Given the description of an element on the screen output the (x, y) to click on. 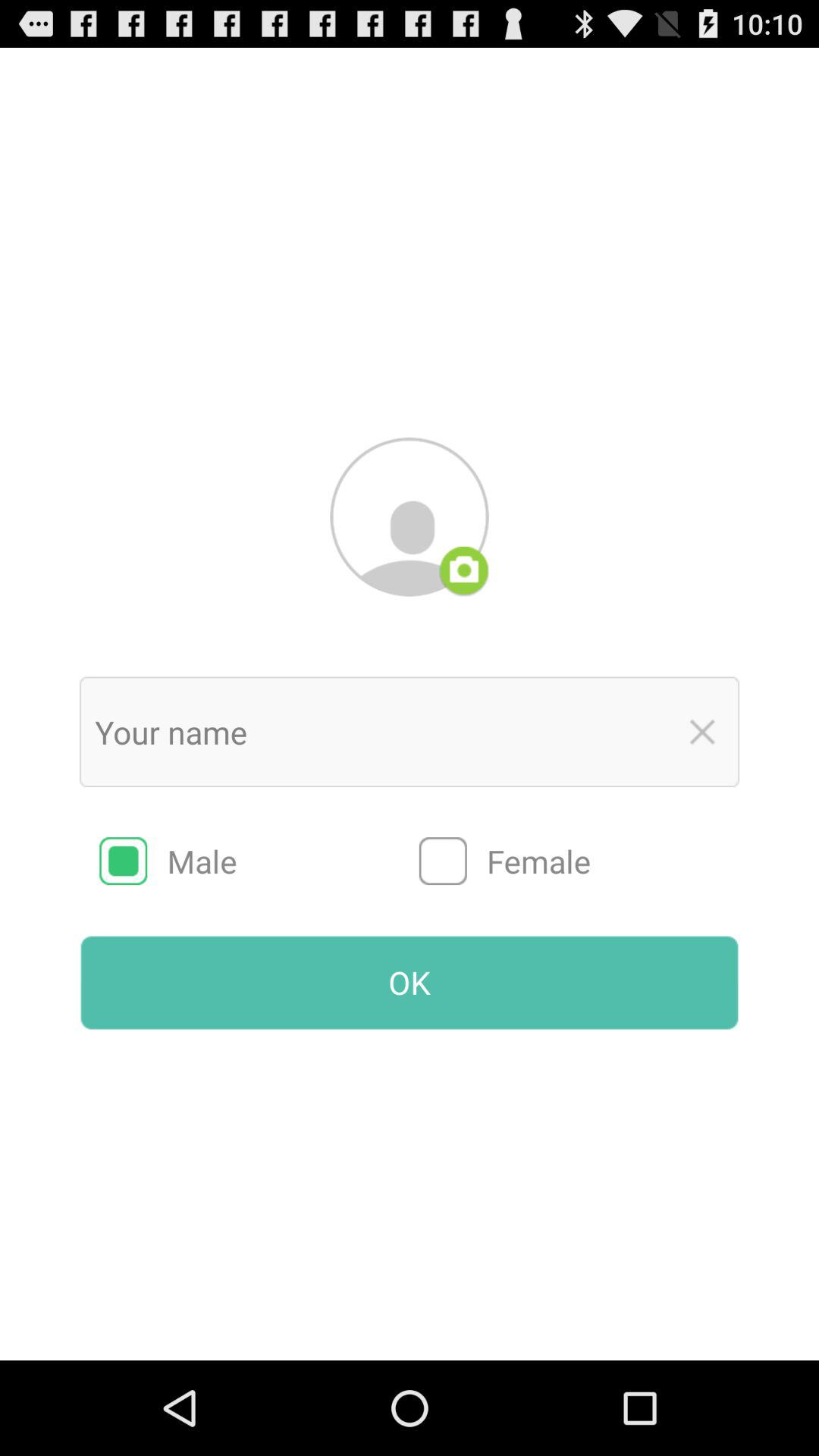
close the user name toggle (702, 731)
